Given the description of an element on the screen output the (x, y) to click on. 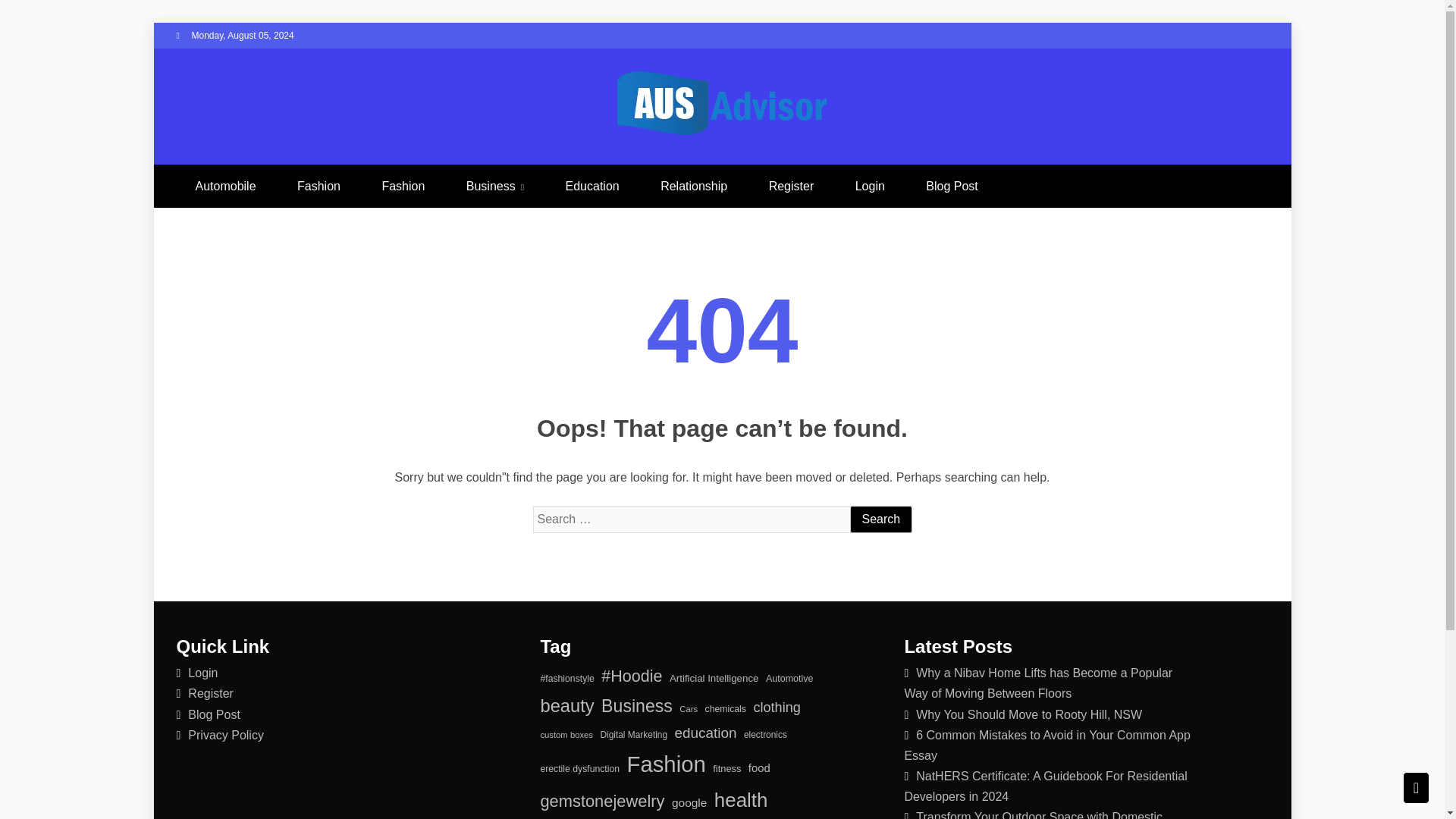
Digital Marketing (632, 734)
Search (879, 519)
Relationship (693, 186)
Fashion (318, 186)
custom boxes (566, 735)
Business (636, 706)
Automotive (789, 678)
beauty (567, 706)
Automobile (224, 186)
Business (495, 186)
Register (209, 693)
Search (879, 519)
erectile dysfunction (580, 769)
Privacy Policy (225, 735)
Blog Post (951, 186)
